Given the description of an element on the screen output the (x, y) to click on. 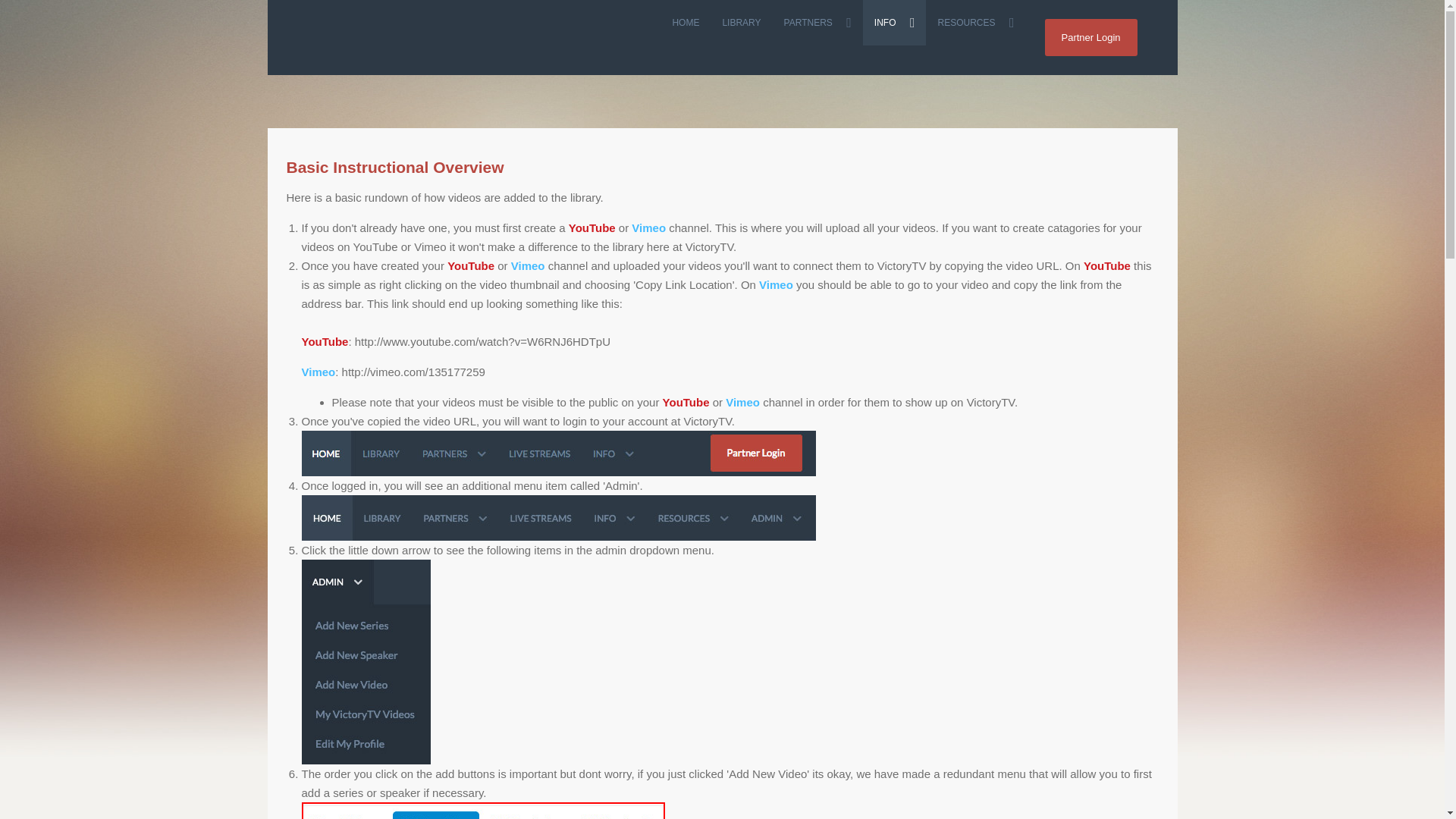
Vimeo (318, 371)
YouTube (686, 401)
PARTNERS (818, 22)
INFO (894, 22)
YouTube (325, 341)
Vimeo (775, 284)
Vimeo (648, 227)
YouTube (592, 227)
RESOURCES (975, 22)
HOME (685, 22)
